Given the description of an element on the screen output the (x, y) to click on. 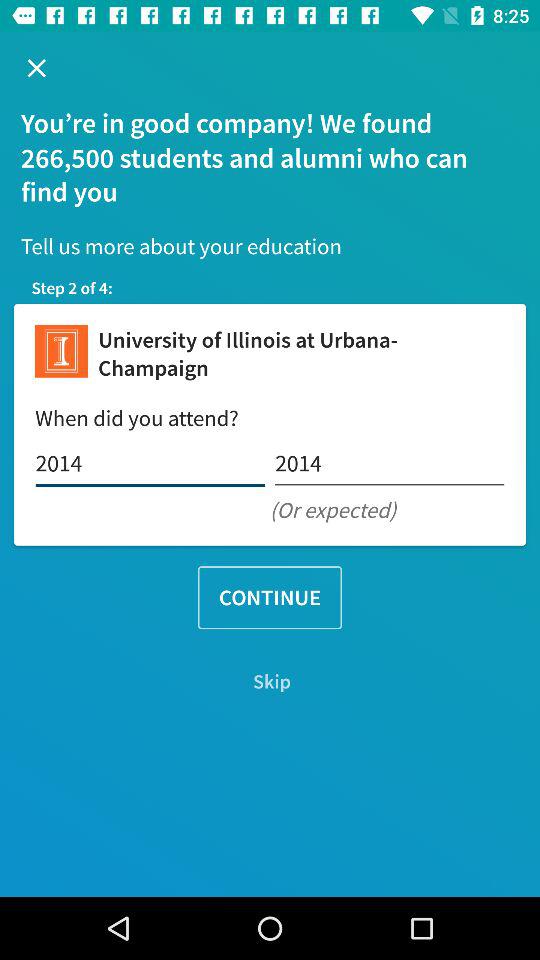
turn on the item above skip (269, 597)
